Given the description of an element on the screen output the (x, y) to click on. 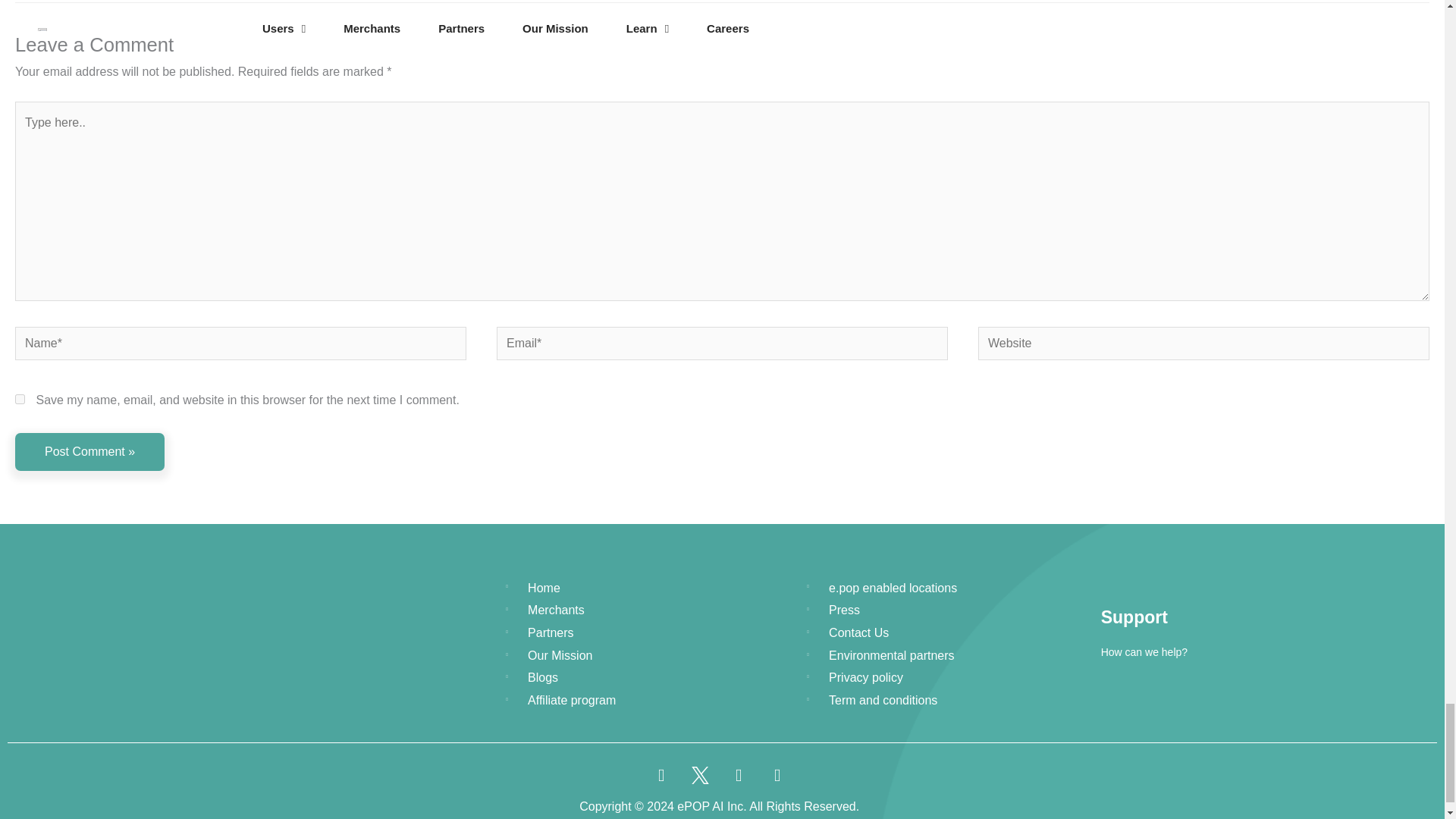
yes (19, 398)
